Given the description of an element on the screen output the (x, y) to click on. 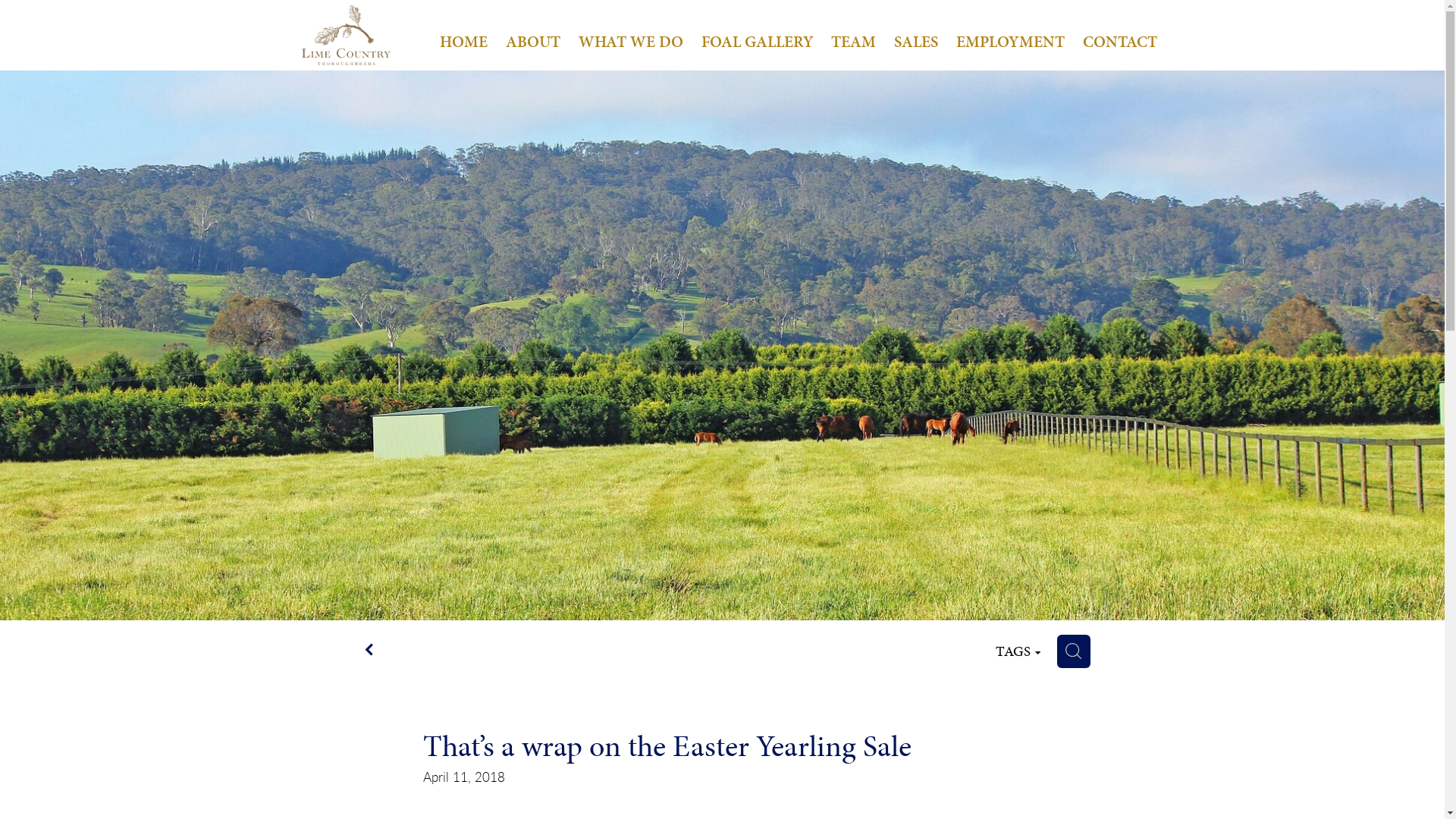
EMPLOYMENT Element type: text (1010, 41)
SALES Element type: text (915, 41)
f Element type: text (369, 648)
WHAT WE DO Element type: text (630, 41)
CONTACT Element type: text (1119, 41)
ABOUT Element type: text (532, 41)
TEAM Element type: text (853, 41)
FOAL GALLERY Element type: text (757, 41)
HOME Element type: text (463, 41)
